Given the description of an element on the screen output the (x, y) to click on. 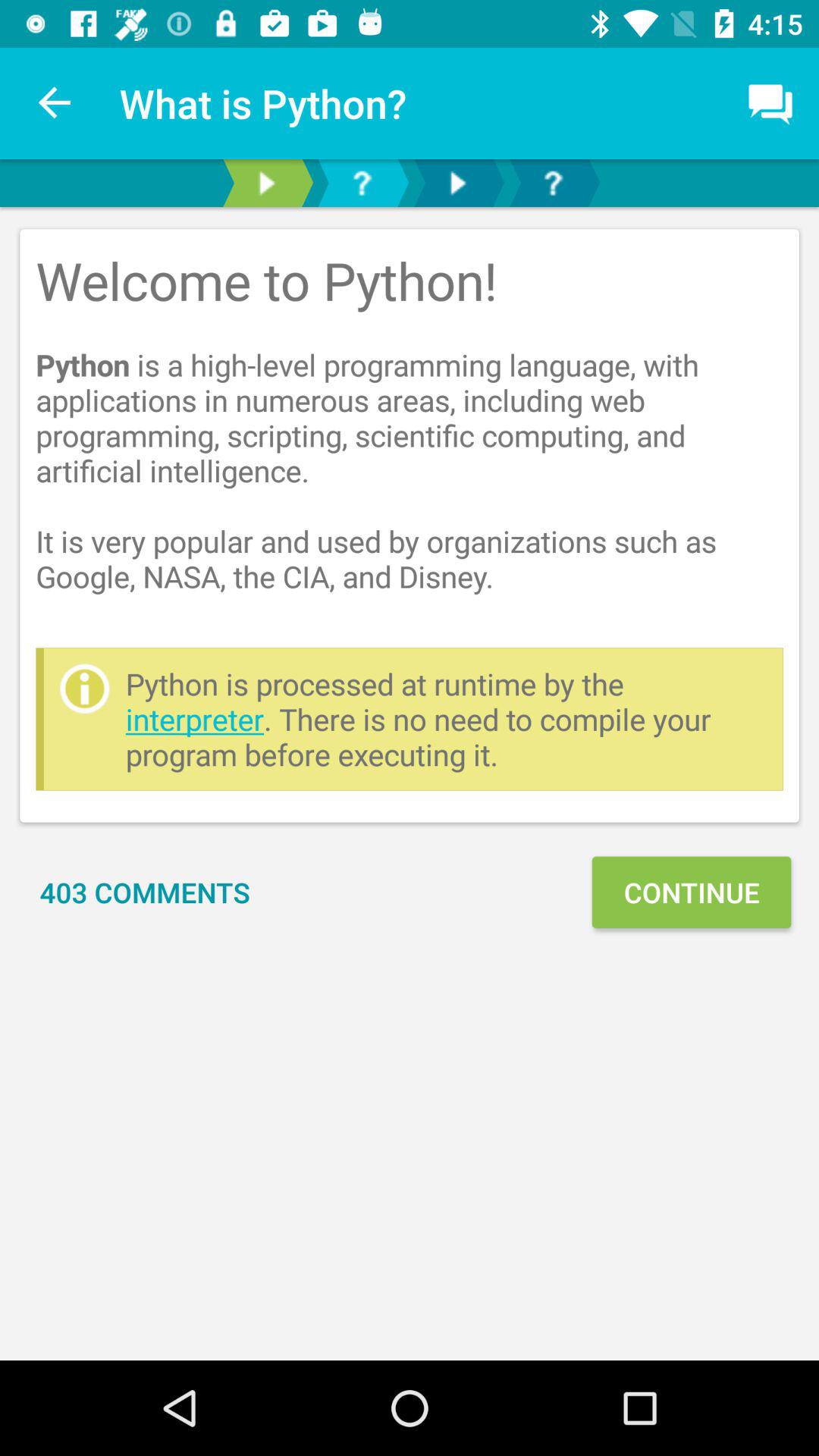
help (552, 183)
